Given the description of an element on the screen output the (x, y) to click on. 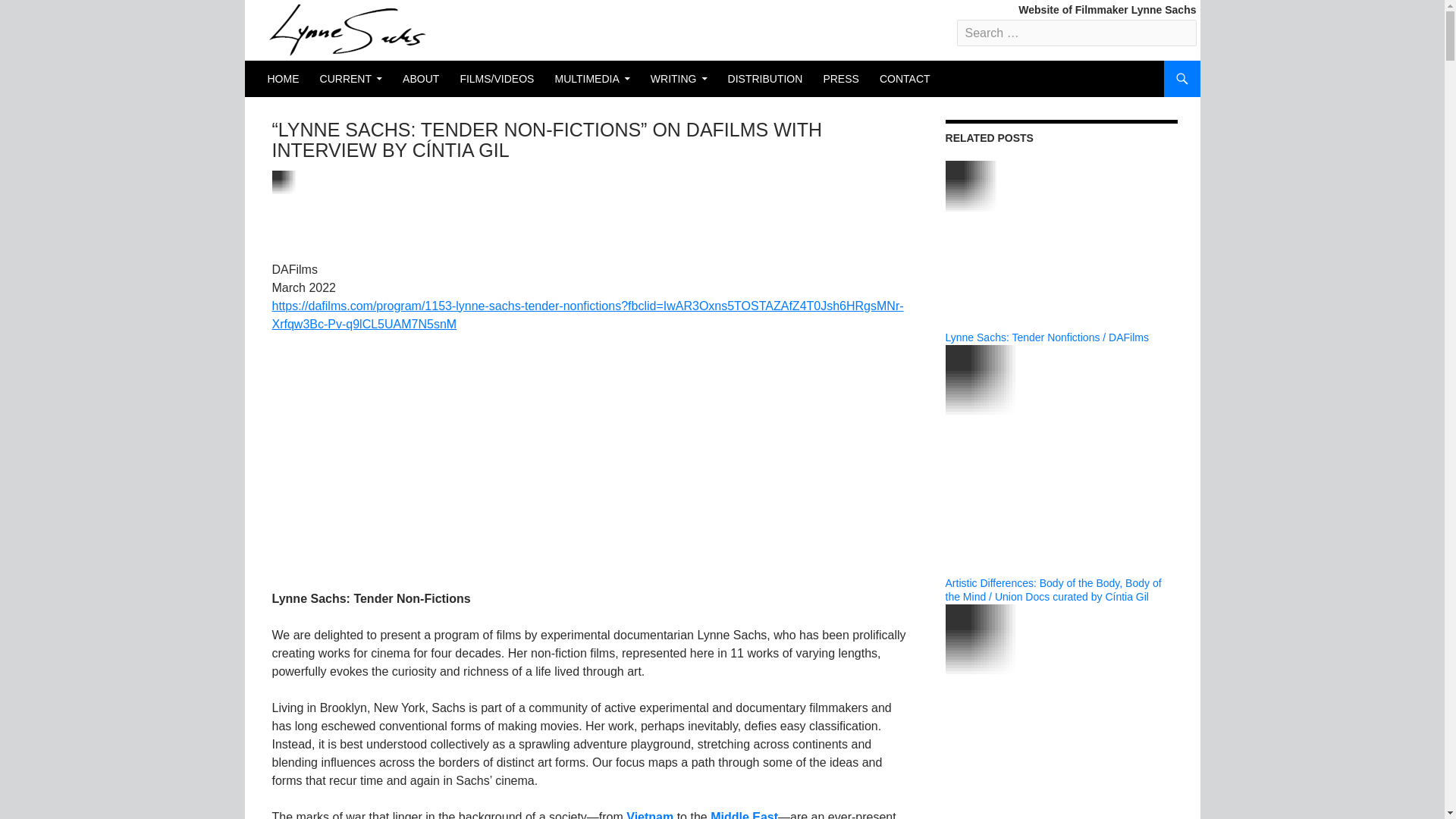
Middle East (743, 814)
CONTACT (904, 78)
Search for: (1076, 32)
Vietnam (649, 814)
DISTRIBUTION (765, 78)
CURRENT (351, 78)
PRESS (840, 78)
Search (42, 13)
HOME (282, 78)
